Given the description of an element on the screen output the (x, y) to click on. 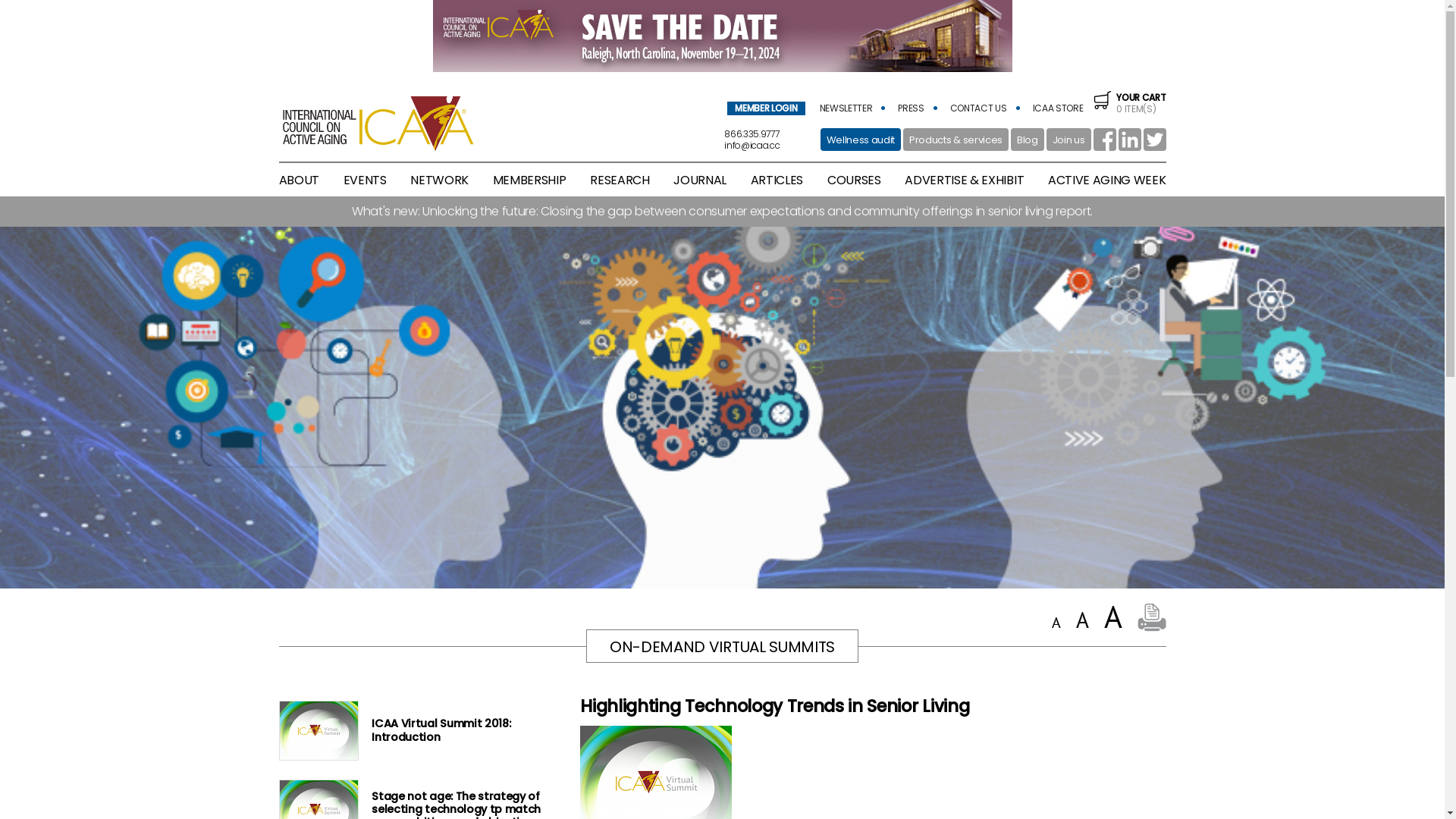
NETWORK Element type: text (439, 180)
RESEARCH Element type: text (619, 180)
PRESS Element type: text (910, 108)
ICAA Element type: hover (721, 36)
MEMBERSHIP Element type: text (529, 180)
ICAA STORE Element type: text (1057, 108)
ACTIVE AGING WEEK Element type: text (1107, 180)
International Council on Active Aging Element type: hover (377, 122)
Blog Element type: text (1027, 139)
ARTICLES Element type: text (776, 180)
COURSES Element type: text (854, 180)
ADVERTISE & EXHIBIT Element type: text (963, 180)
JOURNAL Element type: text (699, 180)
YOUR CART
0 ITEM(S) Element type: text (1129, 103)
EVENTS Element type: text (364, 180)
Join us Element type: text (1068, 139)
Wellness audit Element type: text (860, 139)
ICAA Virtual Summit 2018: Introduction Element type: text (412, 730)
NEWSLETTER Element type: text (845, 108)
ABOUT Element type: text (299, 180)
MEMBER LOGIN Element type: text (765, 108)
CONTACT US Element type: text (978, 108)
Products & services Element type: text (955, 139)
